Given the description of an element on the screen output the (x, y) to click on. 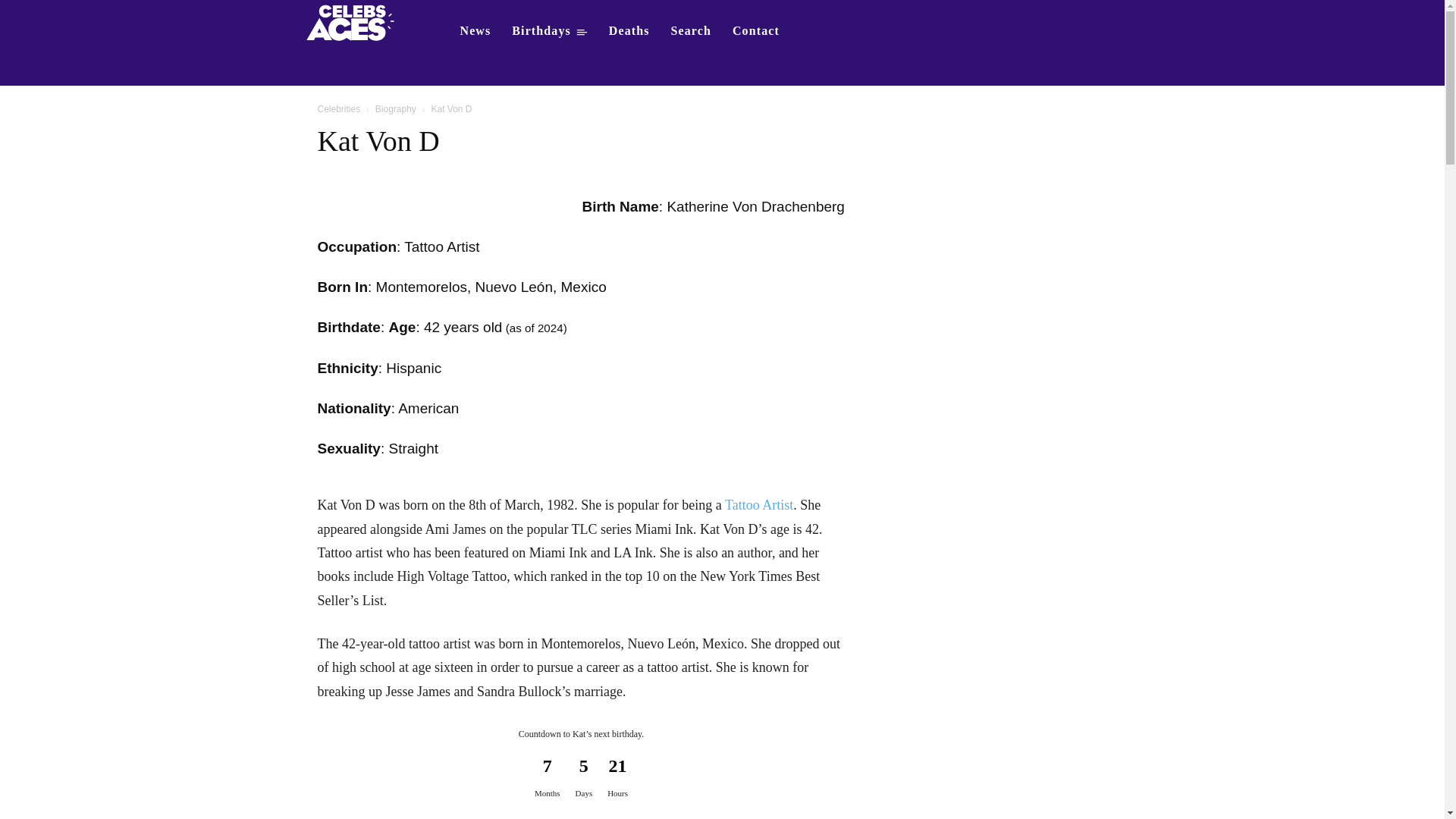
Celebs News (474, 31)
Deaths (629, 31)
Who is dating who (354, 21)
Celebrities (338, 109)
Birthdays (548, 31)
Search (691, 31)
Contact (756, 31)
Biography (395, 109)
Tattoo Artist (759, 504)
News (474, 31)
